Given the description of an element on the screen output the (x, y) to click on. 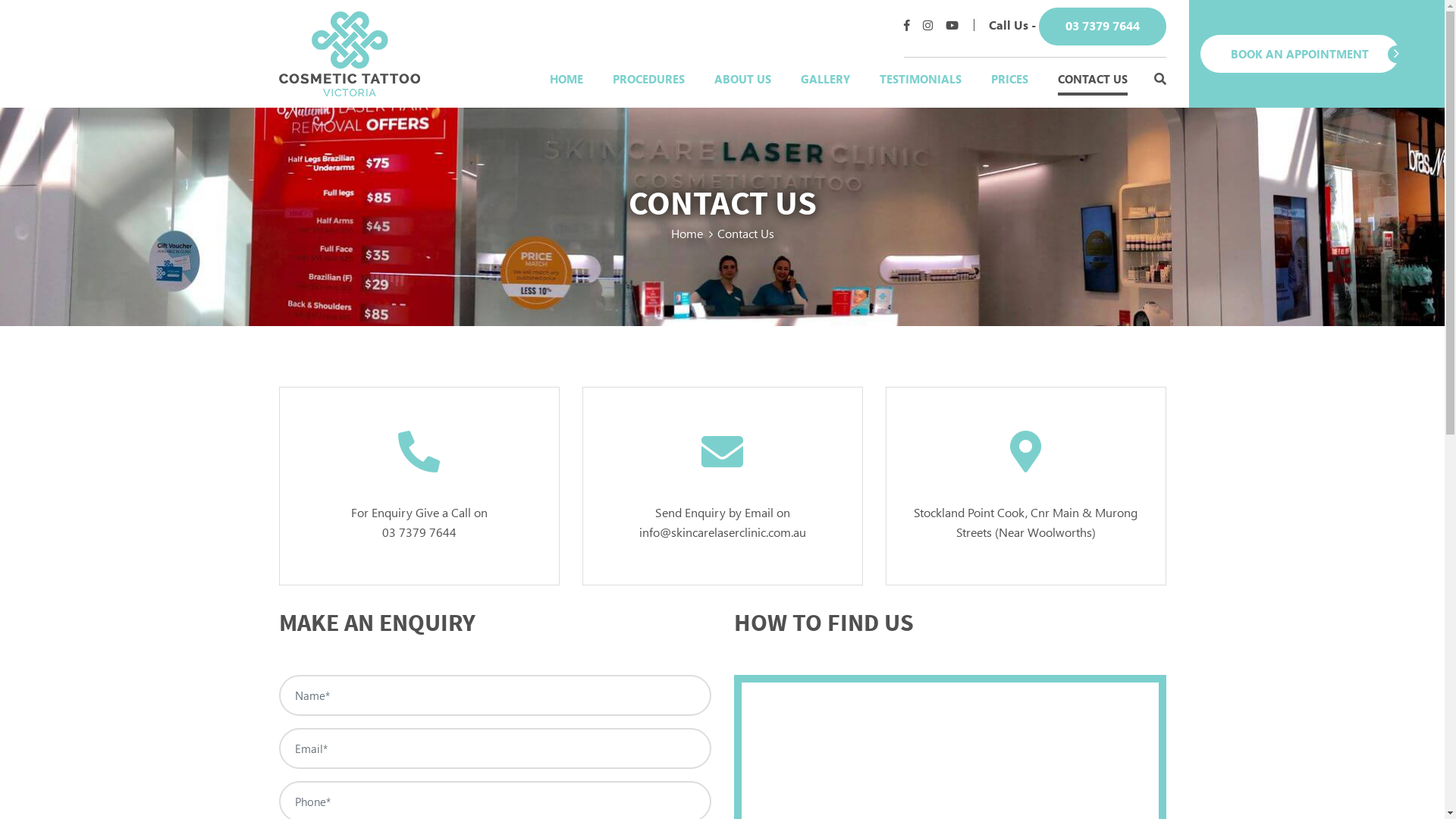
PRICES Element type: text (1008, 78)
Cosmetic Tattoo Victoria Element type: hover (349, 51)
PROCEDURES Element type: text (648, 78)
GALLERY Element type: text (825, 78)
TESTIMONIALS Element type: text (920, 78)
HOME Element type: text (565, 78)
Home Element type: text (686, 233)
info@skincarelaserclinic.com.au Element type: text (721, 531)
Search Element type: hover (1160, 78)
03 7379 7644 Element type: text (1102, 26)
ABOUT US Element type: text (742, 78)
03 7379 7644 Element type: text (419, 531)
CONTACT US Element type: text (1091, 78)
BOOK AN APPOINTMENT Element type: text (1298, 53)
